Given the description of an element on the screen output the (x, y) to click on. 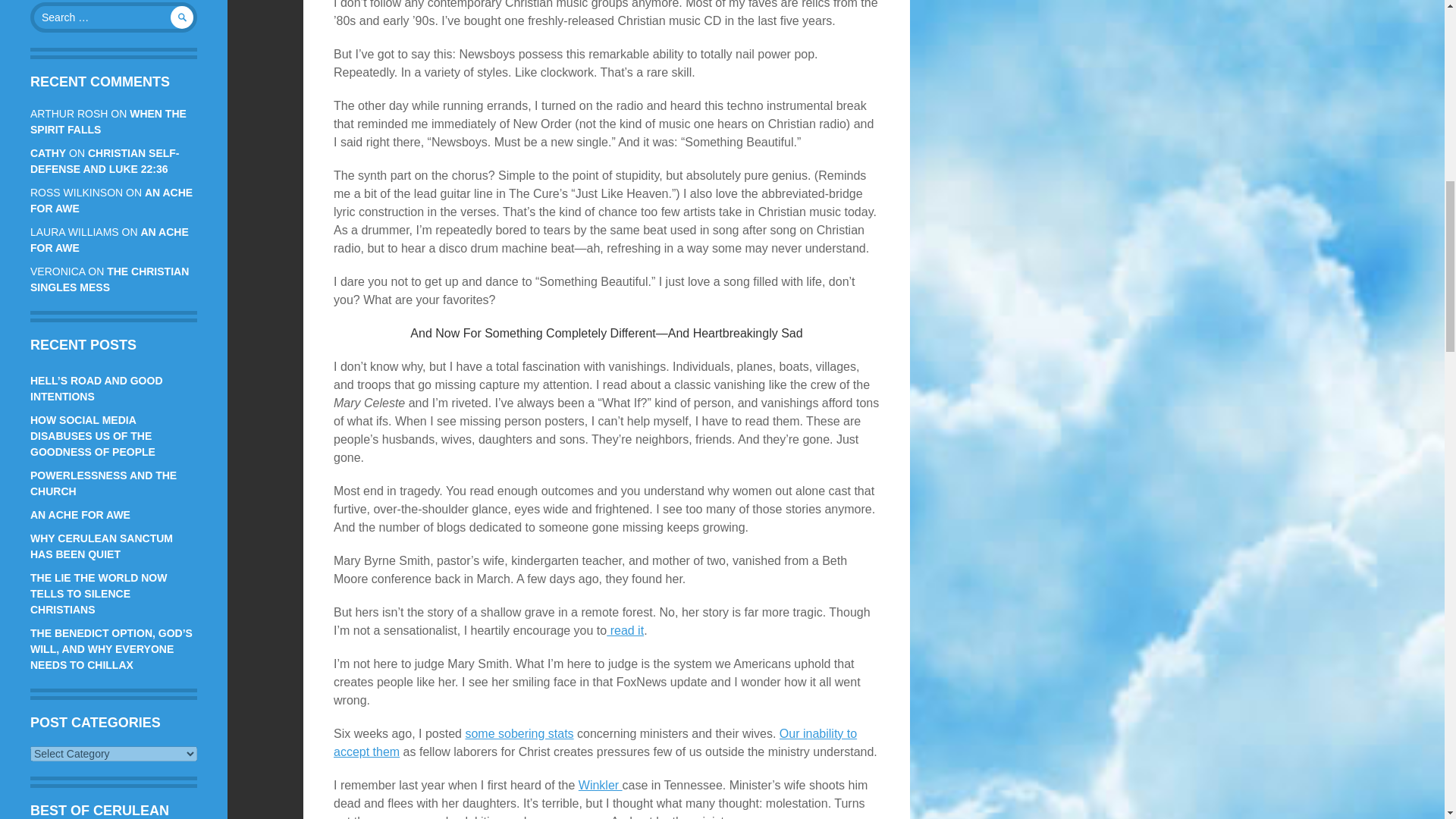
CHRISTIAN SELF-DEFENSE AND LUKE 22:36 (104, 161)
HOW SOCIAL MEDIA DISABUSES US OF THE GOODNESS OF PEOPLE (92, 435)
AN ACHE FOR AWE (80, 514)
Search for: (113, 17)
WHY CERULEAN SANCTUM HAS BEEN QUIET (101, 546)
THE CHRISTIAN SINGLES MESS (109, 279)
THE LIE THE WORLD NOW TELLS TO SILENCE CHRISTIANS (98, 593)
POWERLESSNESS AND THE CHURCH (103, 483)
WHEN THE SPIRIT FALLS (108, 121)
AN ACHE FOR AWE (109, 239)
CATHY (47, 152)
AN ACHE FOR AWE (111, 200)
